Given the description of an element on the screen output the (x, y) to click on. 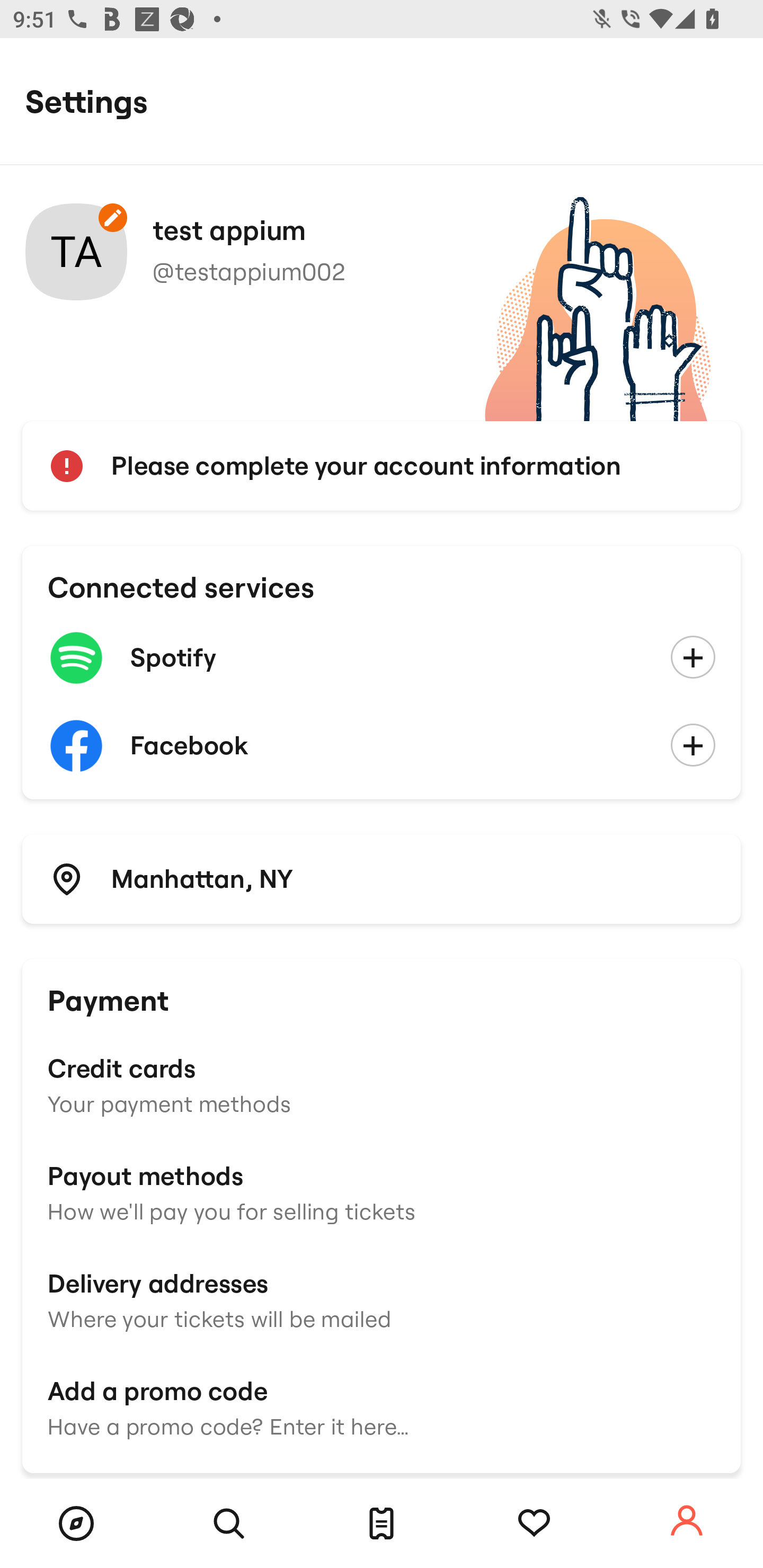
Your account photo (76, 252)
Please complete your account information (381, 466)
Spotify (381, 658)
Facebook (381, 746)
Manhattan, NY (381, 878)
Credit cards Your payment methods (381, 1084)
Add a promo code Have a promo code? Enter it here… (381, 1406)
Browse (76, 1523)
Search (228, 1523)
Tickets (381, 1523)
Tracking (533, 1523)
Account (686, 1521)
